Given the description of an element on the screen output the (x, y) to click on. 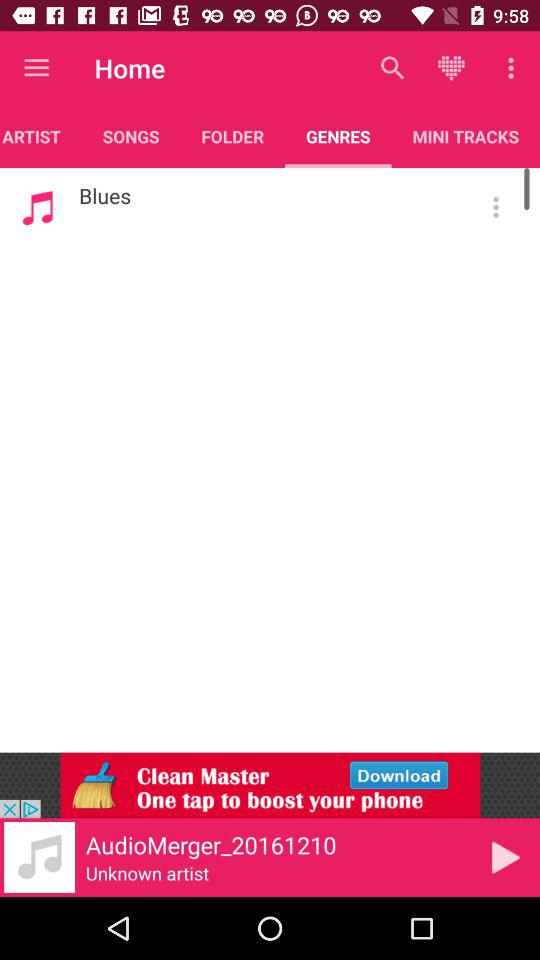
click to play option (505, 857)
